Given the description of an element on the screen output the (x, y) to click on. 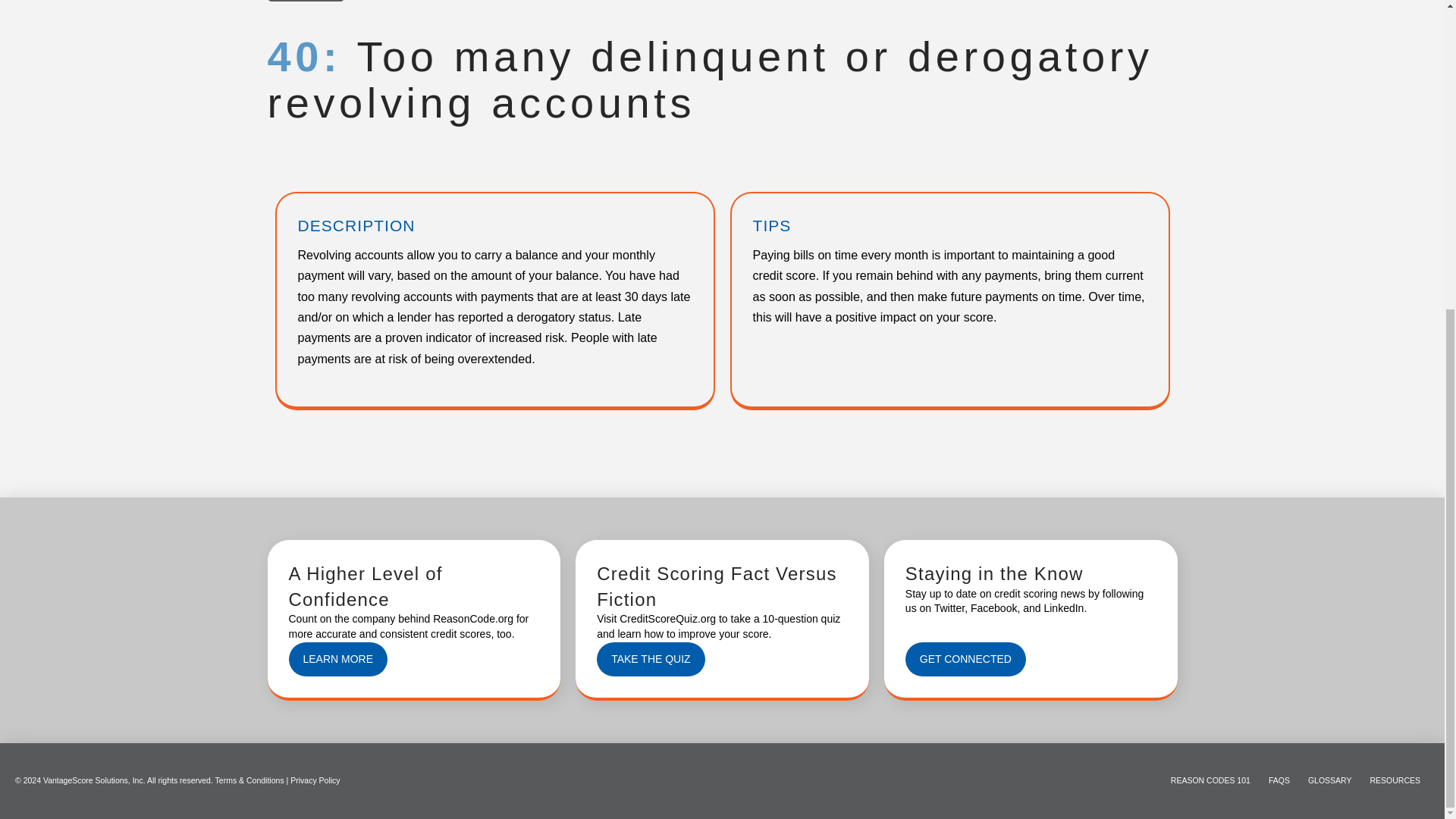
Privacy Policy (314, 779)
TAKE THE QUIZ (650, 659)
LEARN MORE (337, 659)
GET CONNECTED (965, 659)
